Given the description of an element on the screen output the (x, y) to click on. 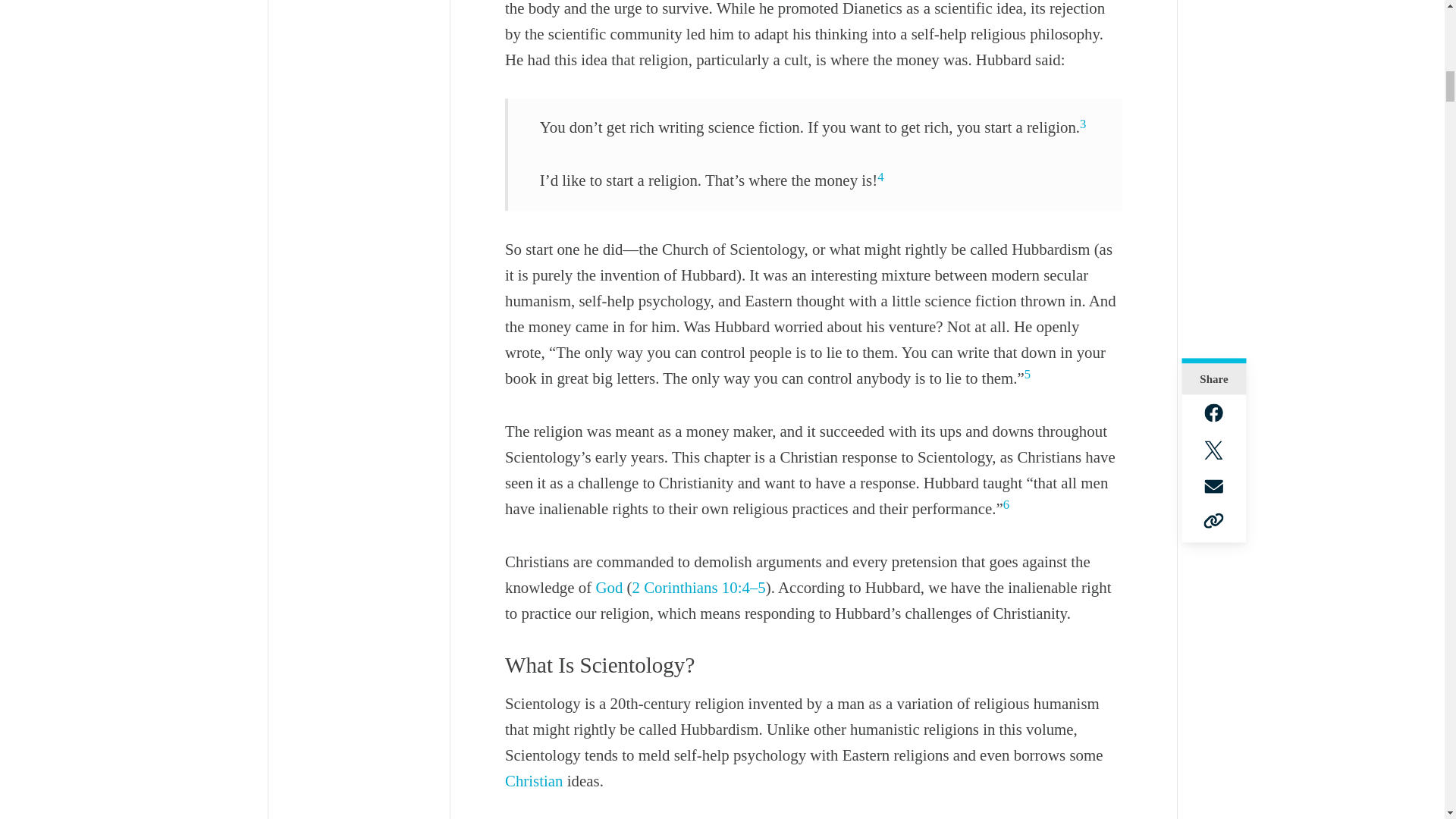
God (609, 587)
Footnote 4 (880, 176)
4 (880, 176)
